Given the description of an element on the screen output the (x, y) to click on. 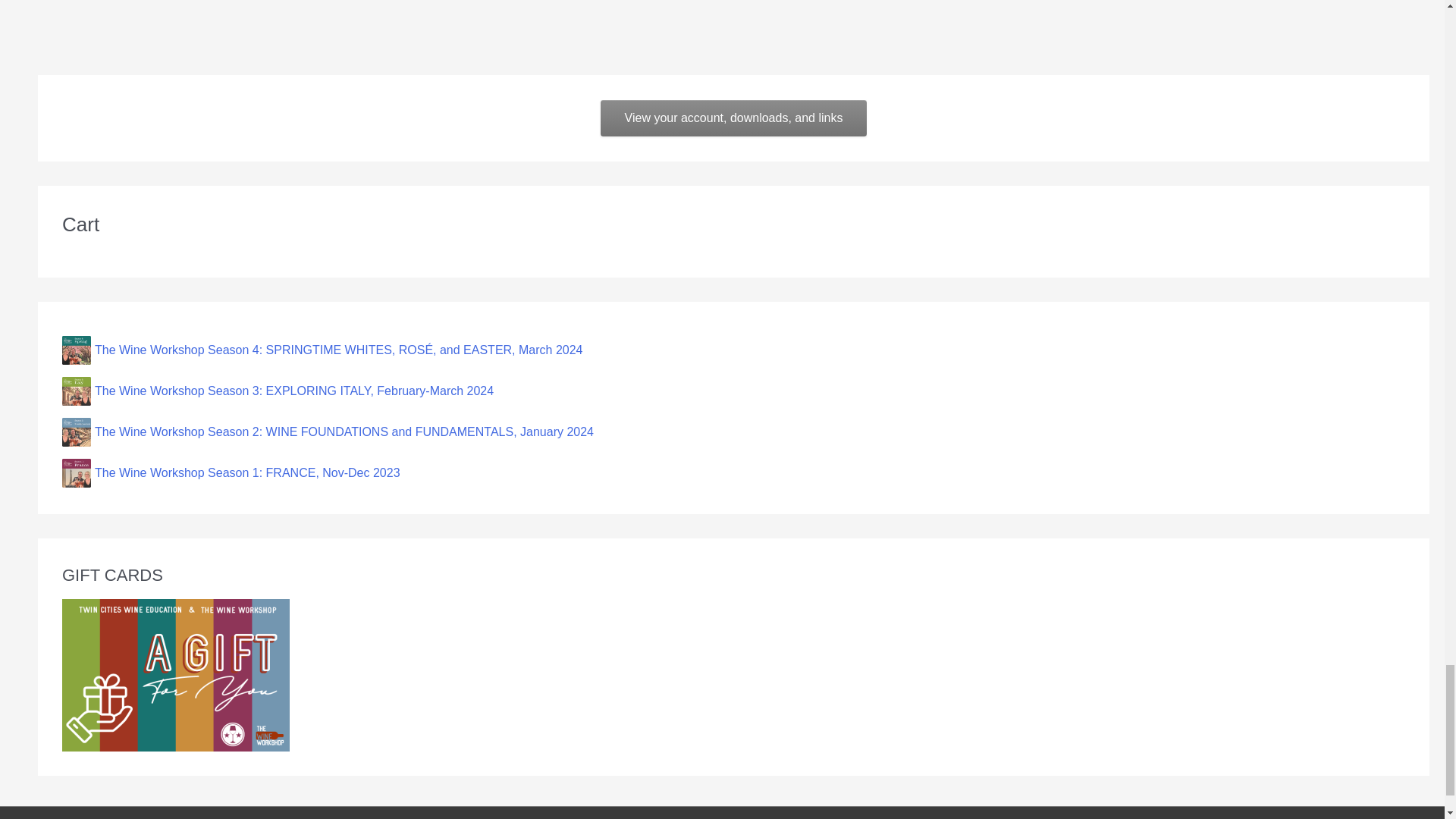
The Wine Workshop Season 1: FRANCE, Nov-Dec 2023 (733, 472)
GIFT CARDS NOW AVAILABLE! (175, 674)
View your account, downloads, and links (733, 118)
The Wine Workshop Season 1: FRANCE, Nov-Dec 2023 (733, 472)
